Given the description of an element on the screen output the (x, y) to click on. 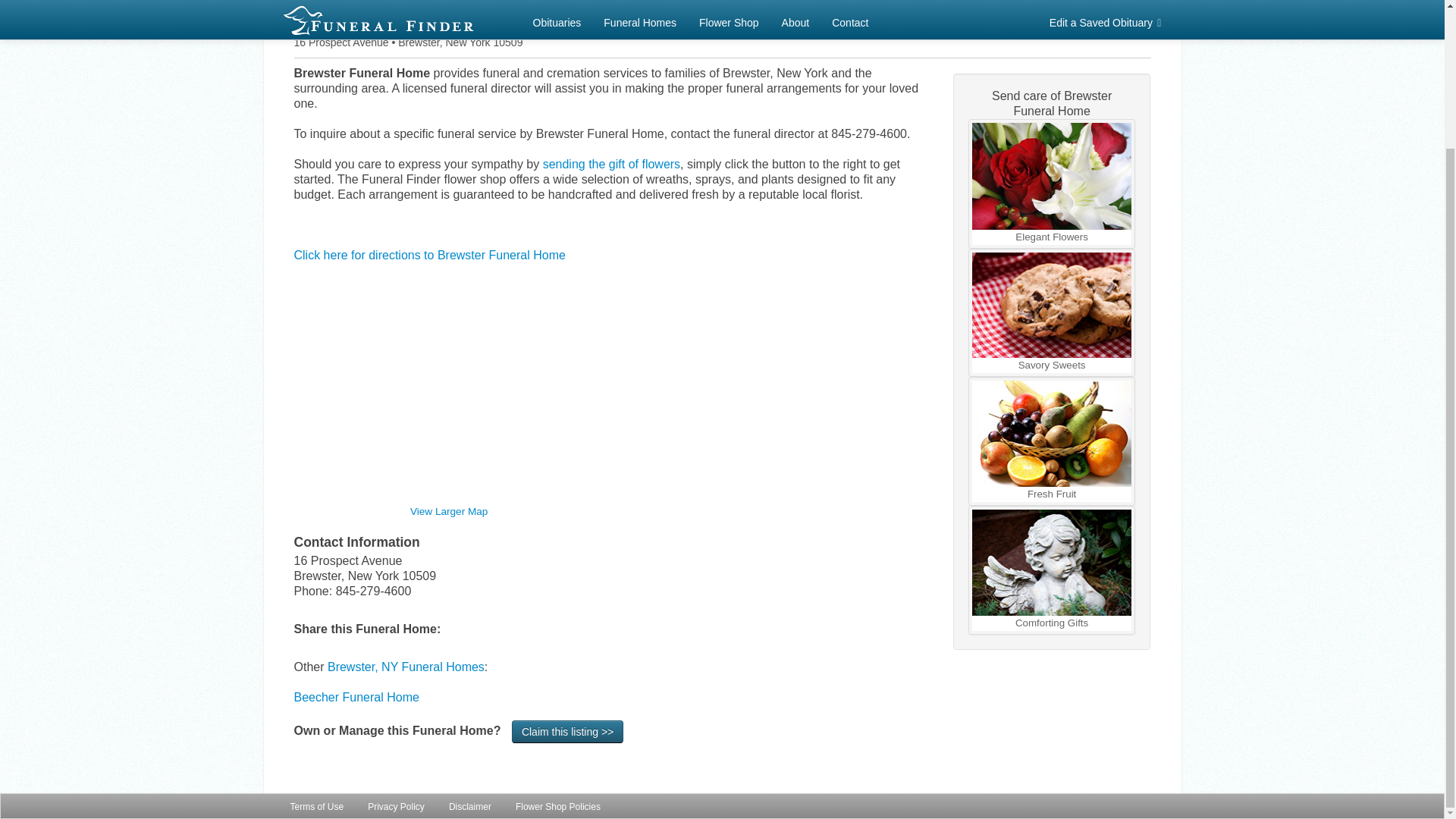
Brewster, NY Funeral Homes (405, 666)
Beecher Funeral Home (356, 697)
Flower Shop Policies (557, 635)
Comforting Gifts (1052, 569)
Fresh Fruit (1052, 441)
Disclaimer (470, 635)
Terms of Use (317, 635)
sending the gift of flowers (611, 164)
Click here for directions to Brewster Funeral Home (430, 254)
Elegant Flowers (1052, 183)
View Larger Map (448, 511)
Privacy Policy (395, 635)
Savory Sweets (1052, 312)
